Given the description of an element on the screen output the (x, y) to click on. 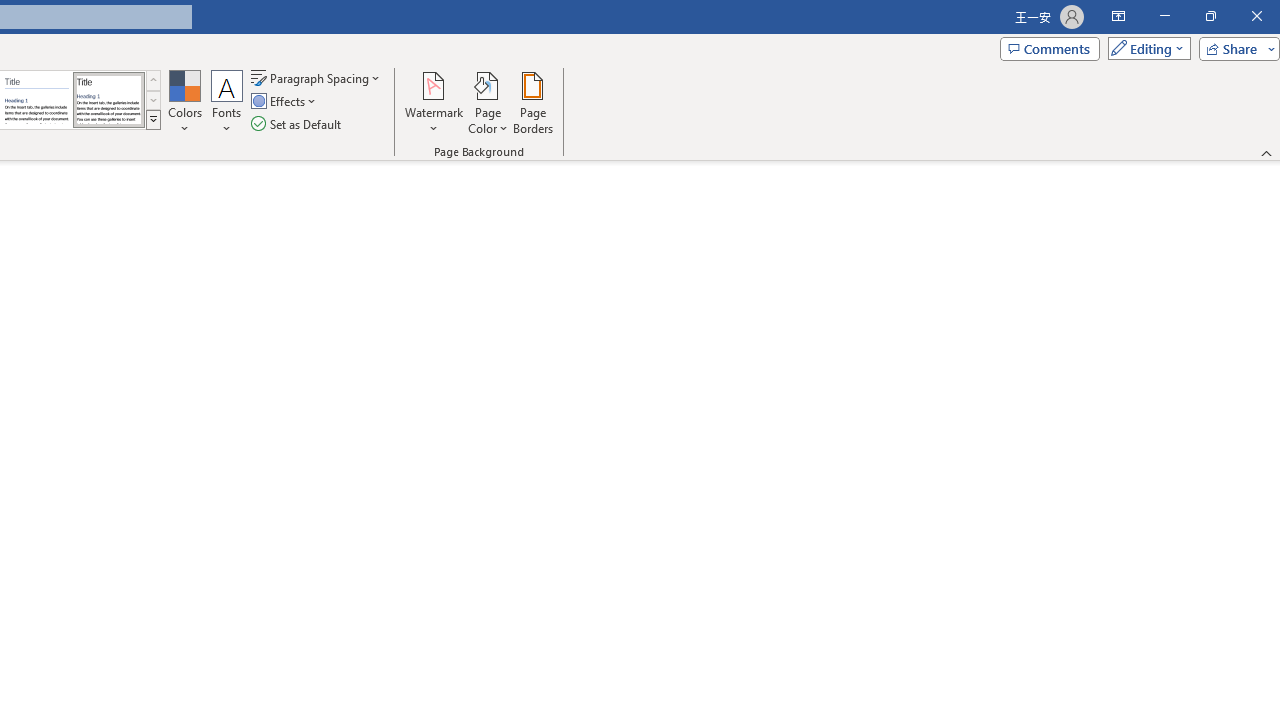
Page Color (487, 102)
Colors (184, 102)
Set as Default (298, 124)
Word 2013 (108, 100)
Word 2010 (36, 100)
Fonts (227, 102)
Style Set (153, 120)
Watermark (434, 102)
